Given the description of an element on the screen output the (x, y) to click on. 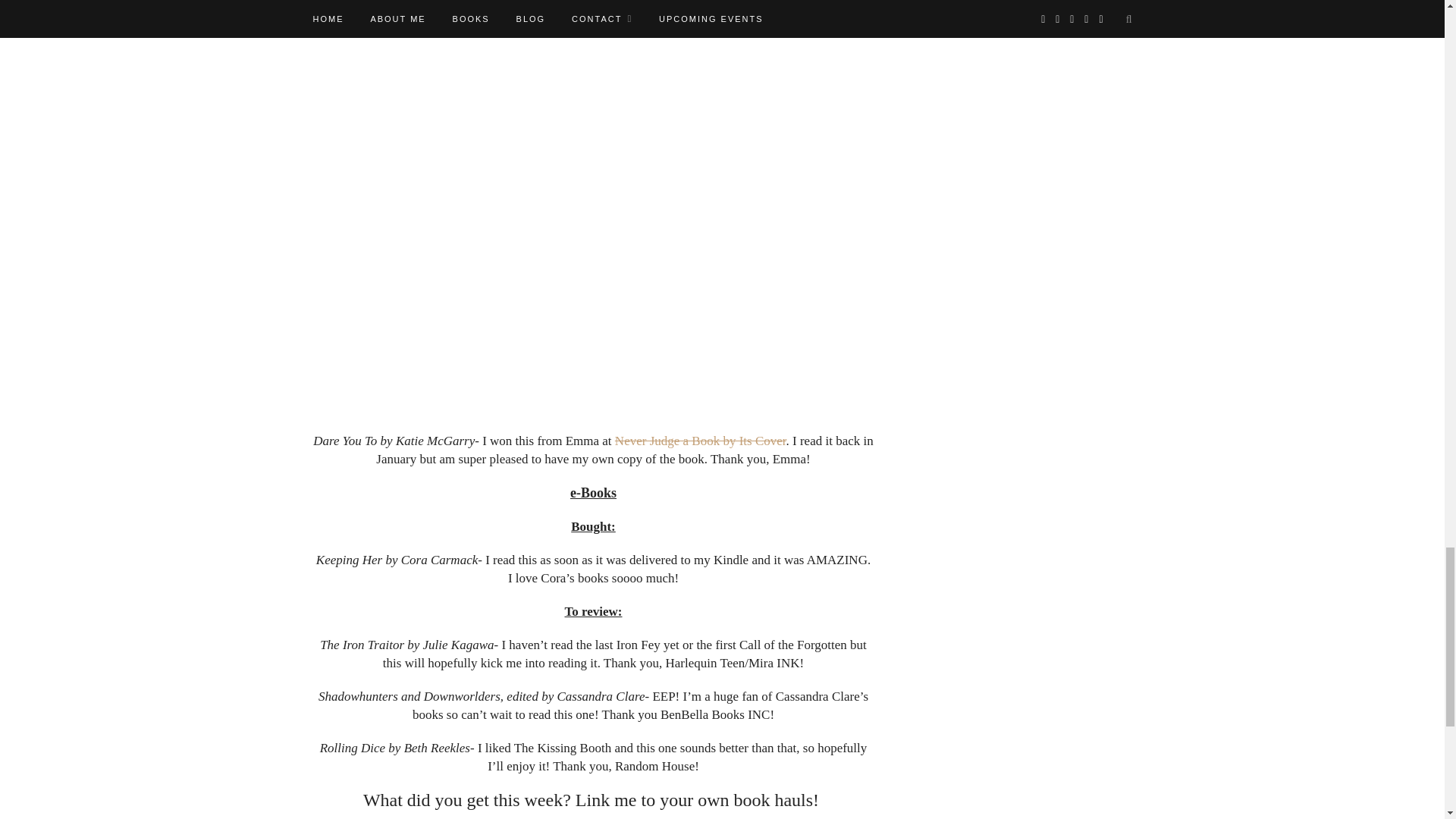
Never Judge a Book by Its Cover (700, 440)
